Given the description of an element on the screen output the (x, y) to click on. 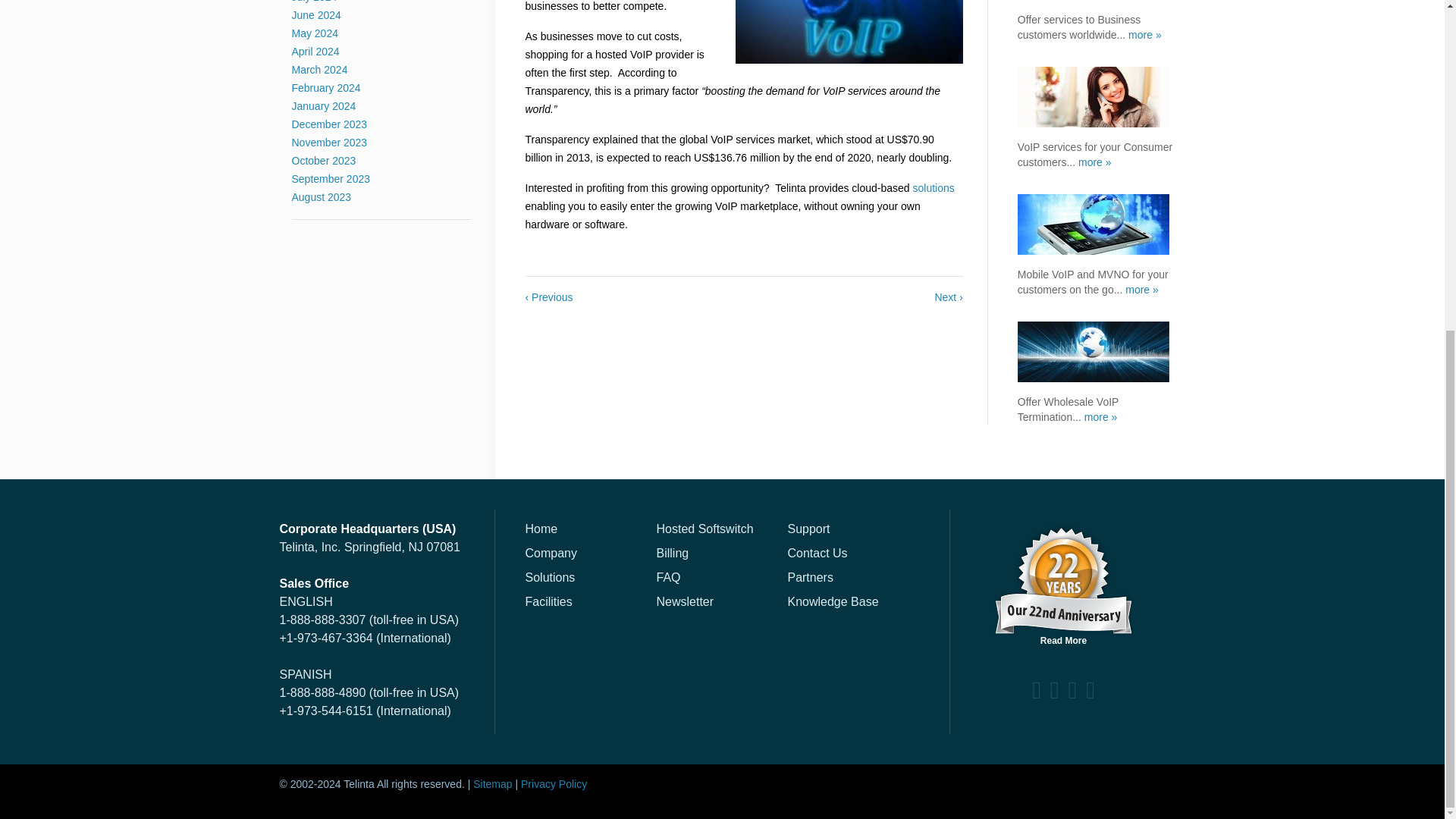
Our 22nd Anniversary (1062, 584)
